Given the description of an element on the screen output the (x, y) to click on. 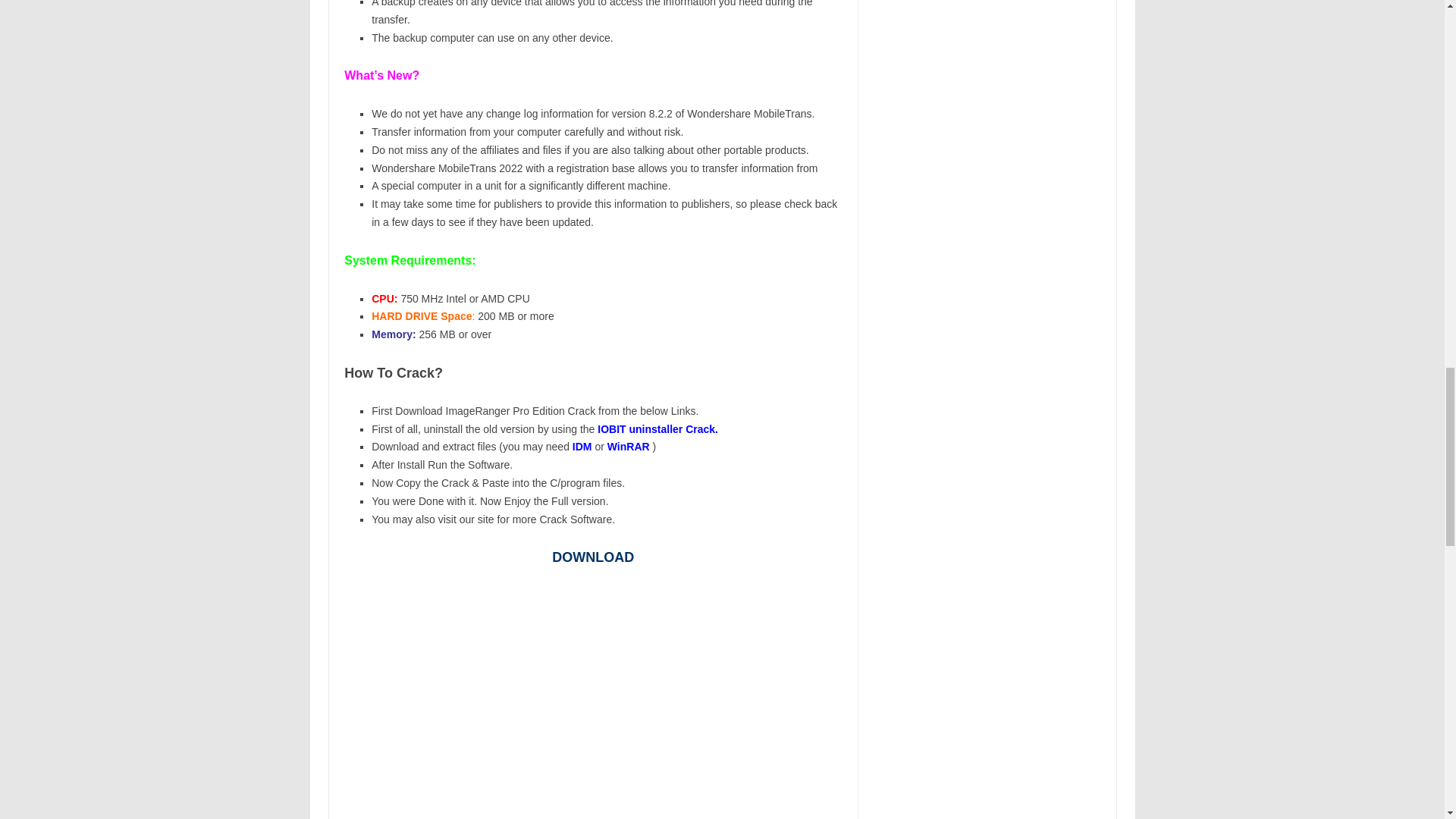
IOBIT uninstaller Crack. (656, 428)
IDM  (583, 446)
WinRAR  (629, 446)
DOWNLOAD (592, 557)
